Given the description of an element on the screen output the (x, y) to click on. 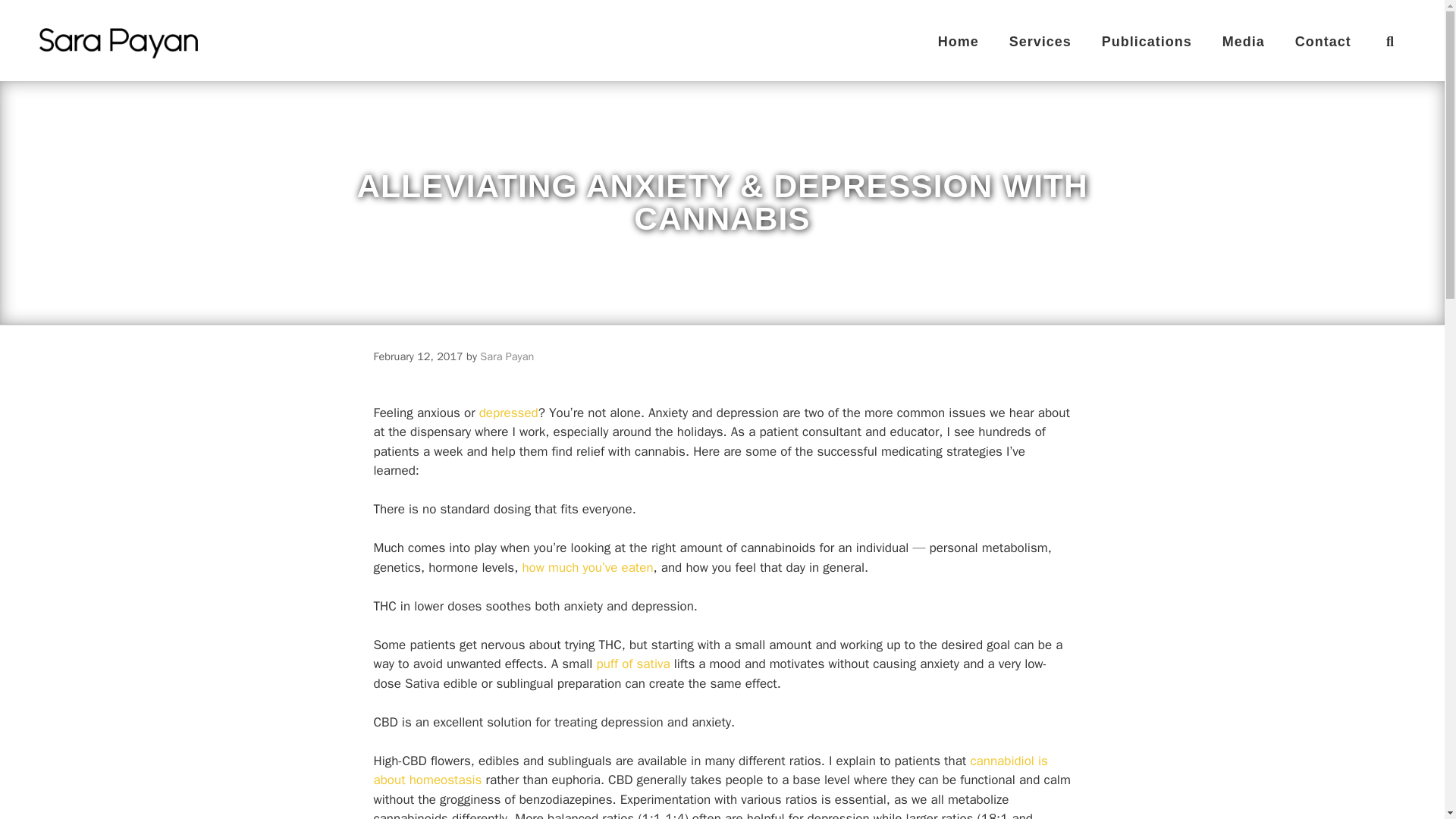
Contact (1323, 41)
cannabidiol is about homeostasis (709, 770)
depressed (508, 412)
View all posts by Sara Payan (507, 356)
Publications (1146, 41)
puff of sativa (632, 663)
Sara Payan (507, 356)
Home (958, 41)
Media (1243, 41)
Services (1040, 41)
